Given the description of an element on the screen output the (x, y) to click on. 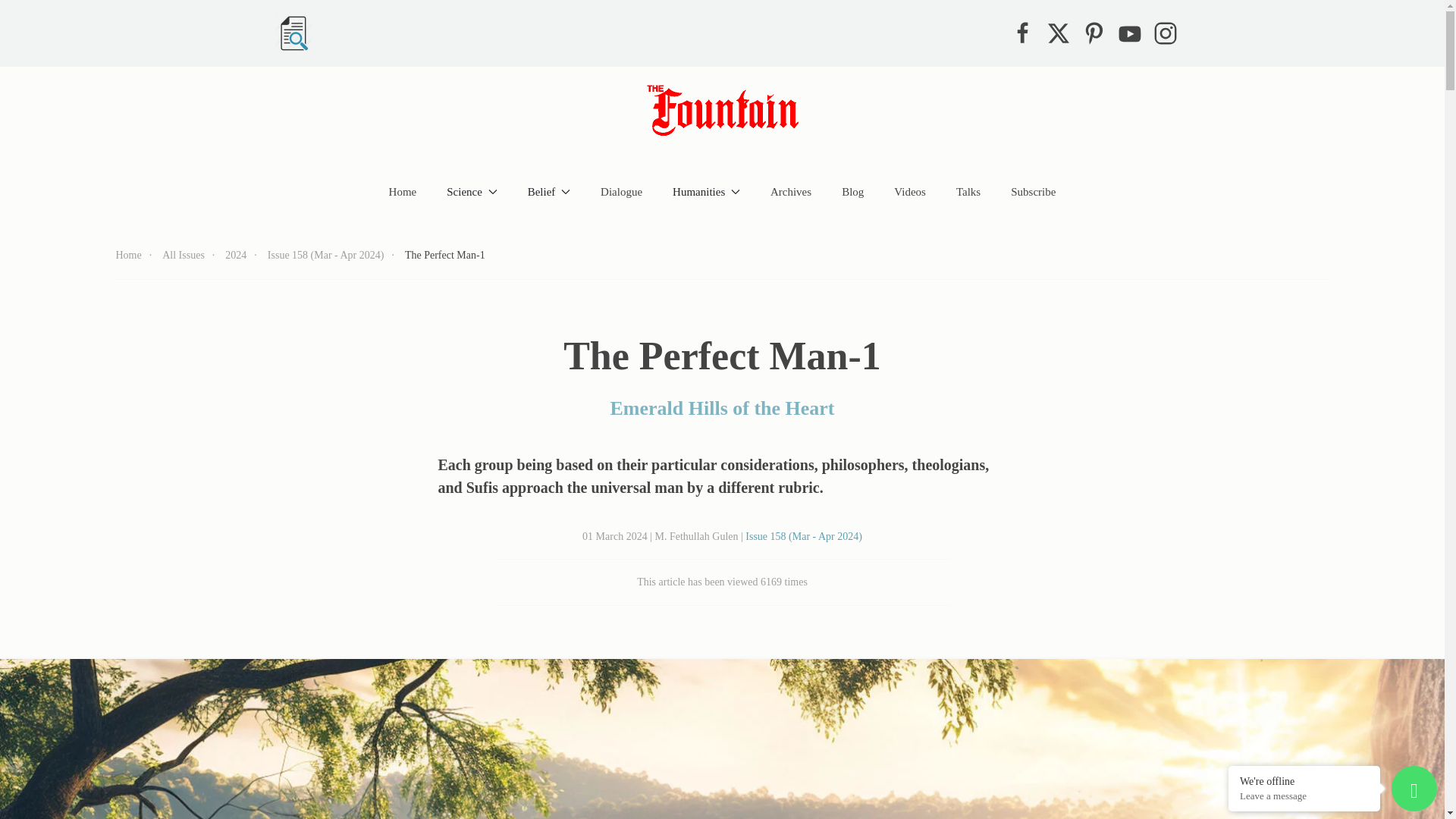
Search (293, 33)
Leave a message (1304, 796)
We're offline (1304, 780)
